Given the description of an element on the screen output the (x, y) to click on. 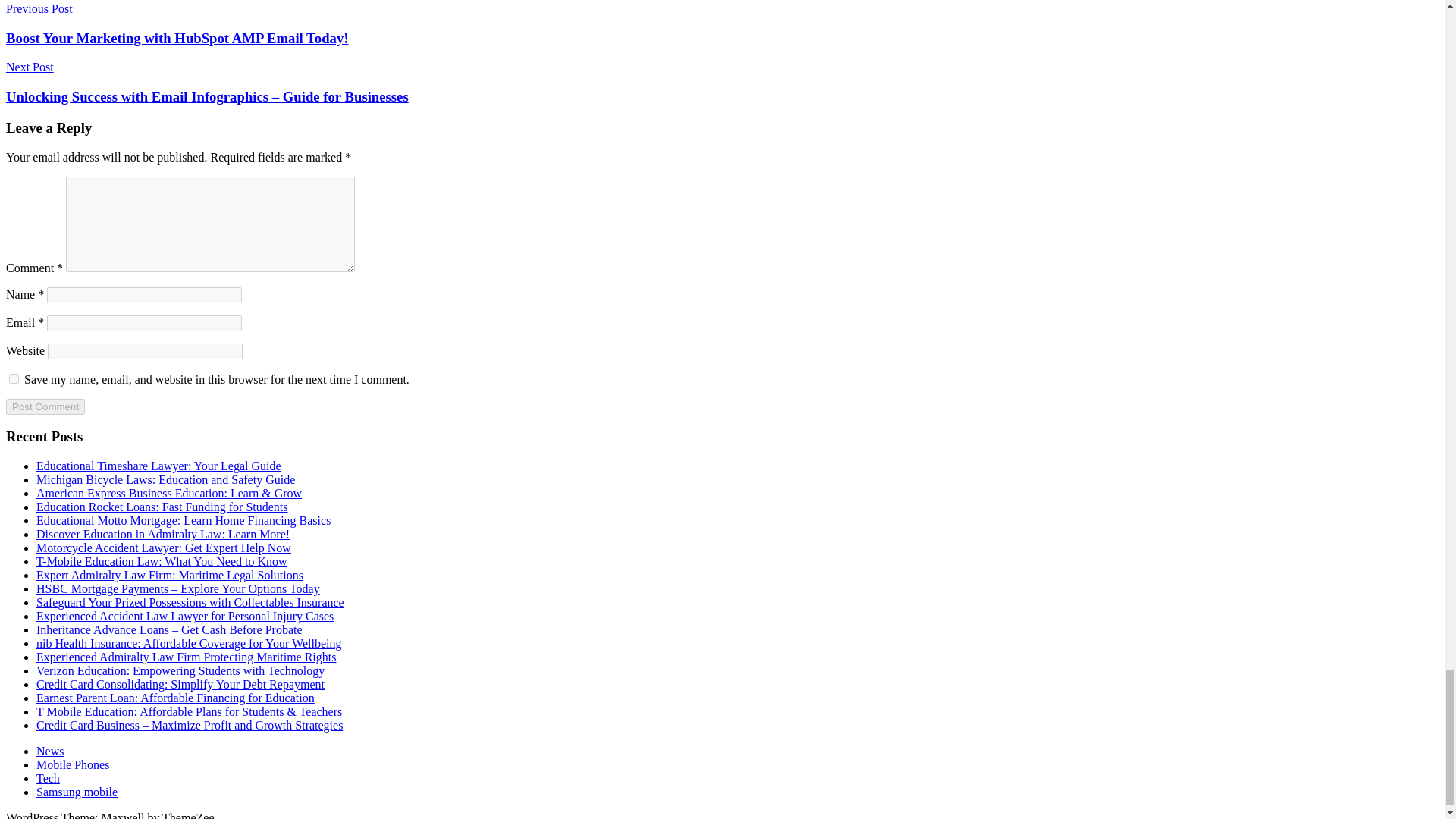
nib Health Insurance: Affordable Coverage for Your Wellbeing (188, 643)
News (50, 750)
Experienced Accident Law Lawyer for Personal Injury Cases (184, 615)
Educational Timeshare Lawyer: Your Legal Guide (158, 465)
Michigan Bicycle Laws: Education and Safety Guide (165, 479)
Tech (47, 778)
Discover Education in Admiralty Law: Learn More! (162, 533)
T-Mobile Education Law: What You Need to Know (161, 561)
Experienced Admiralty Law Firm Protecting Maritime Rights (186, 656)
Motorcycle Accident Lawyer: Get Expert Help Now (163, 547)
yes (13, 378)
Educational Motto Mortgage: Learn Home Financing Basics (183, 520)
Mobile Phones (72, 764)
Earnest Parent Loan: Affordable Financing for Education (175, 697)
